Given the description of an element on the screen output the (x, y) to click on. 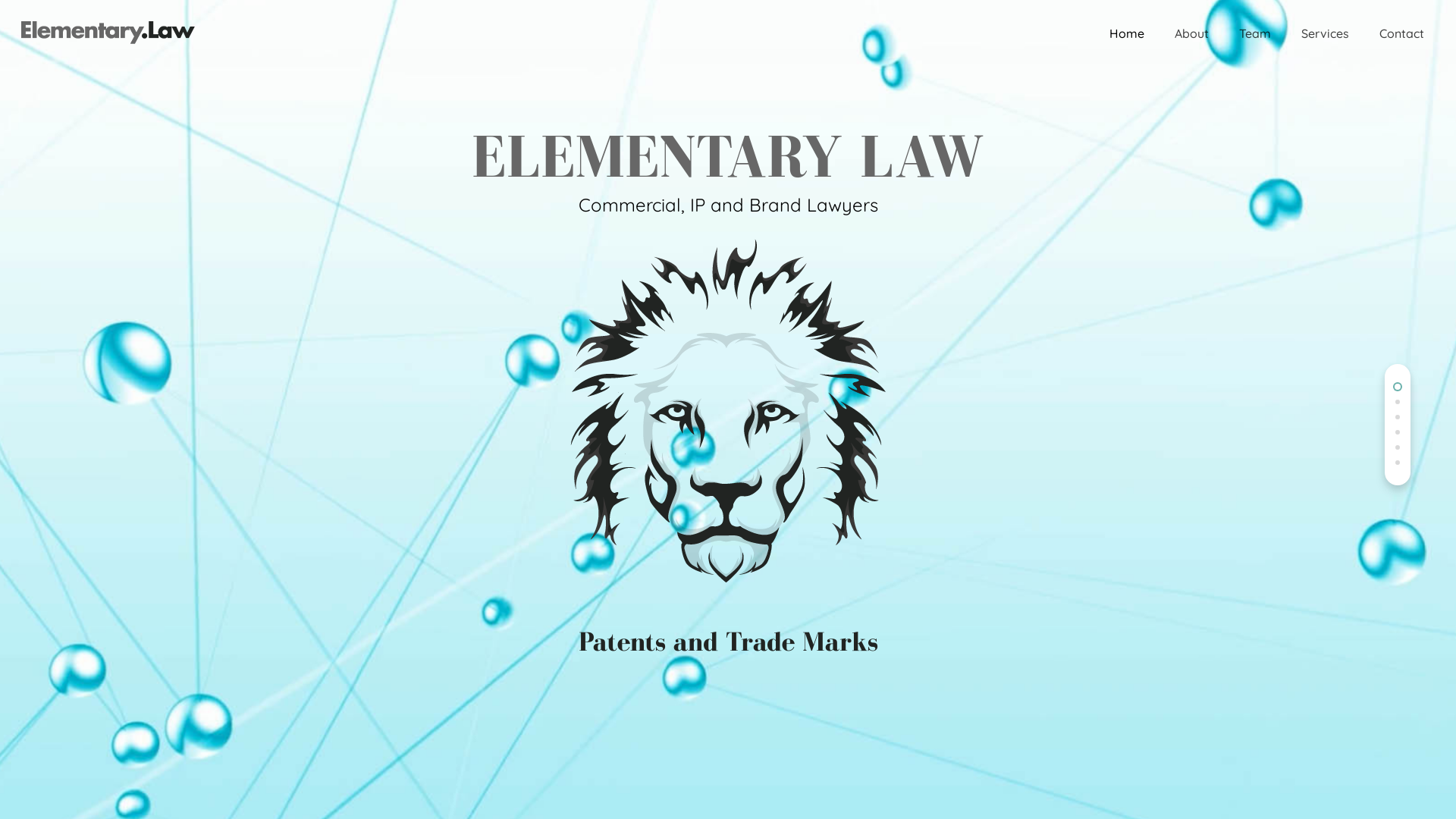
Services Element type: text (1325, 33)
Team Element type: text (1254, 33)
Home Element type: text (1126, 33)
Contact Element type: text (1401, 33)
About Element type: text (1191, 33)
